Given the description of an element on the screen output the (x, y) to click on. 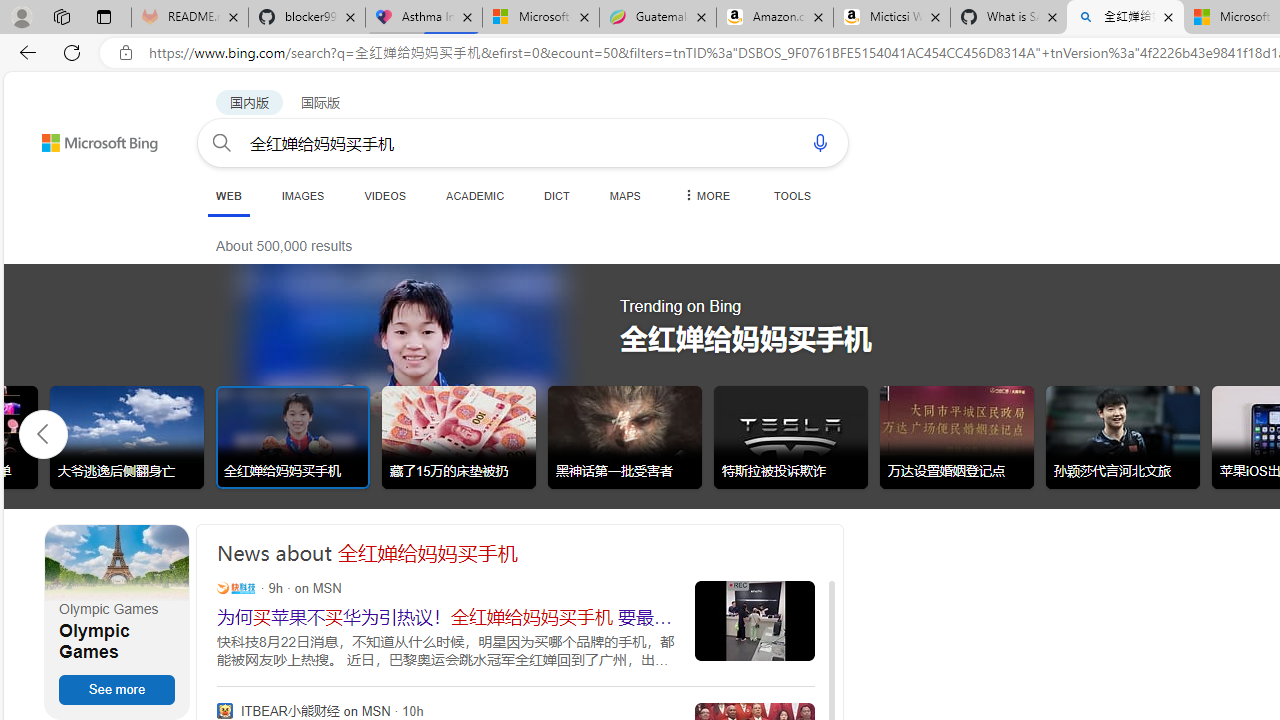
MORE (705, 195)
Search using voice (820, 142)
DICT (557, 195)
